Given the description of an element on the screen output the (x, y) to click on. 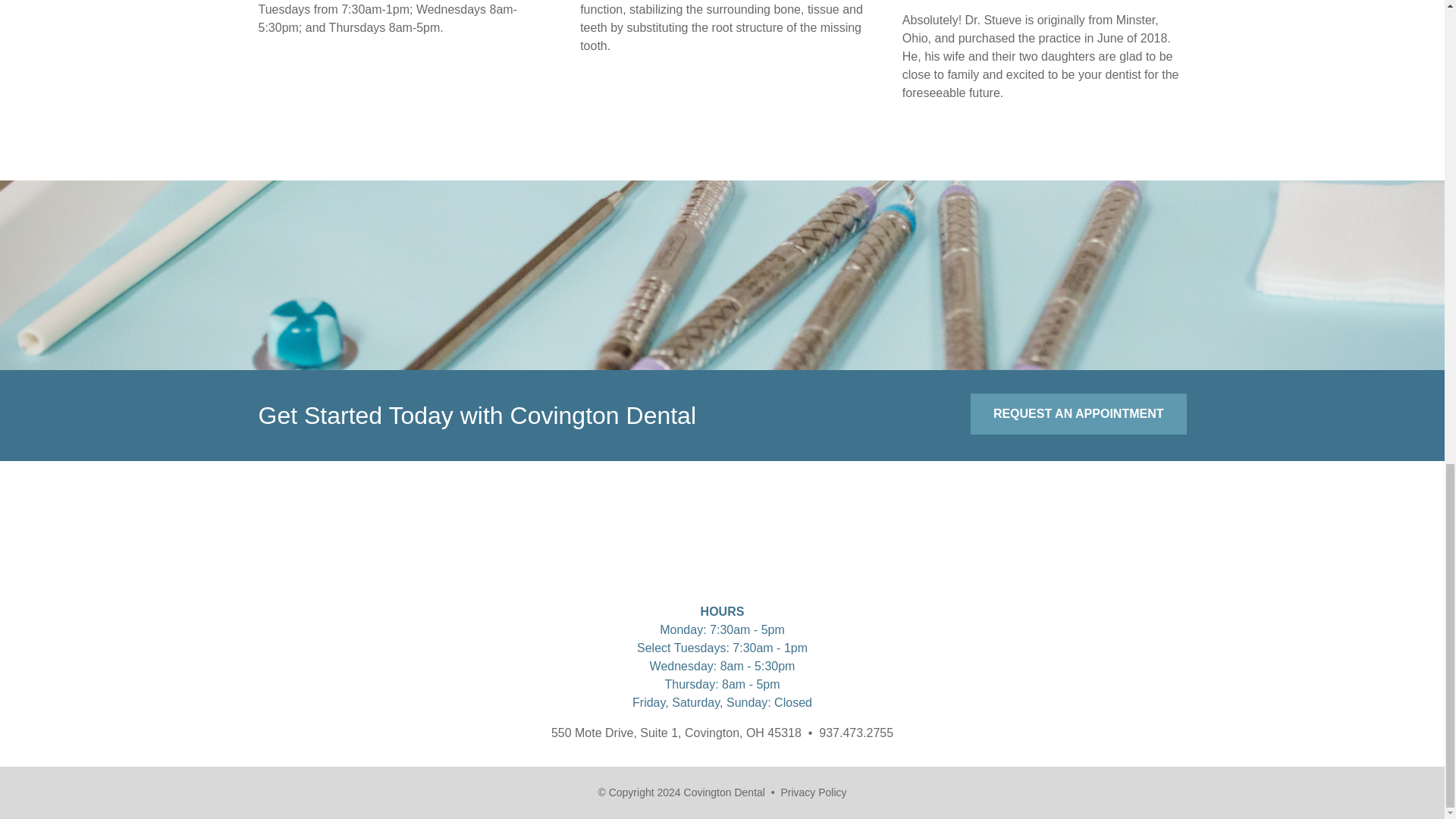
Privacy Policy (812, 792)
REQUEST AN APPOINTMENT (1078, 413)
937.473.2755 (855, 732)
